Given the description of an element on the screen output the (x, y) to click on. 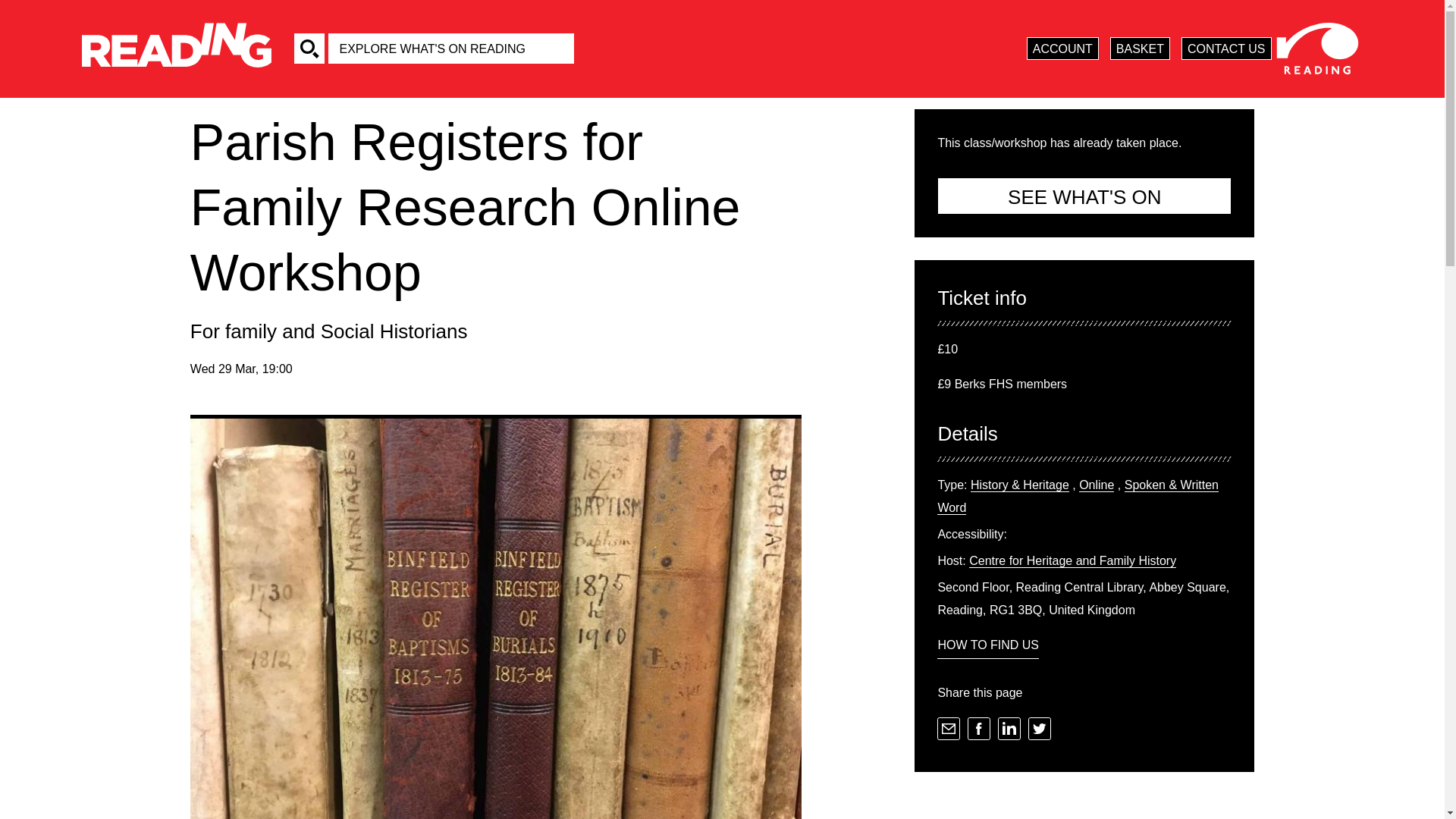
HOW TO FIND US (988, 646)
Centre for Heritage and Family History (1072, 561)
ACCOUNT (1062, 47)
Find out more about Centre for Heritage and Family History (1072, 561)
Search (309, 48)
CONTACT US (1225, 47)
See What's On (1084, 195)
SEE WHAT'S ON (1084, 195)
BASKET (1139, 47)
Online (1095, 485)
